Given the description of an element on the screen output the (x, y) to click on. 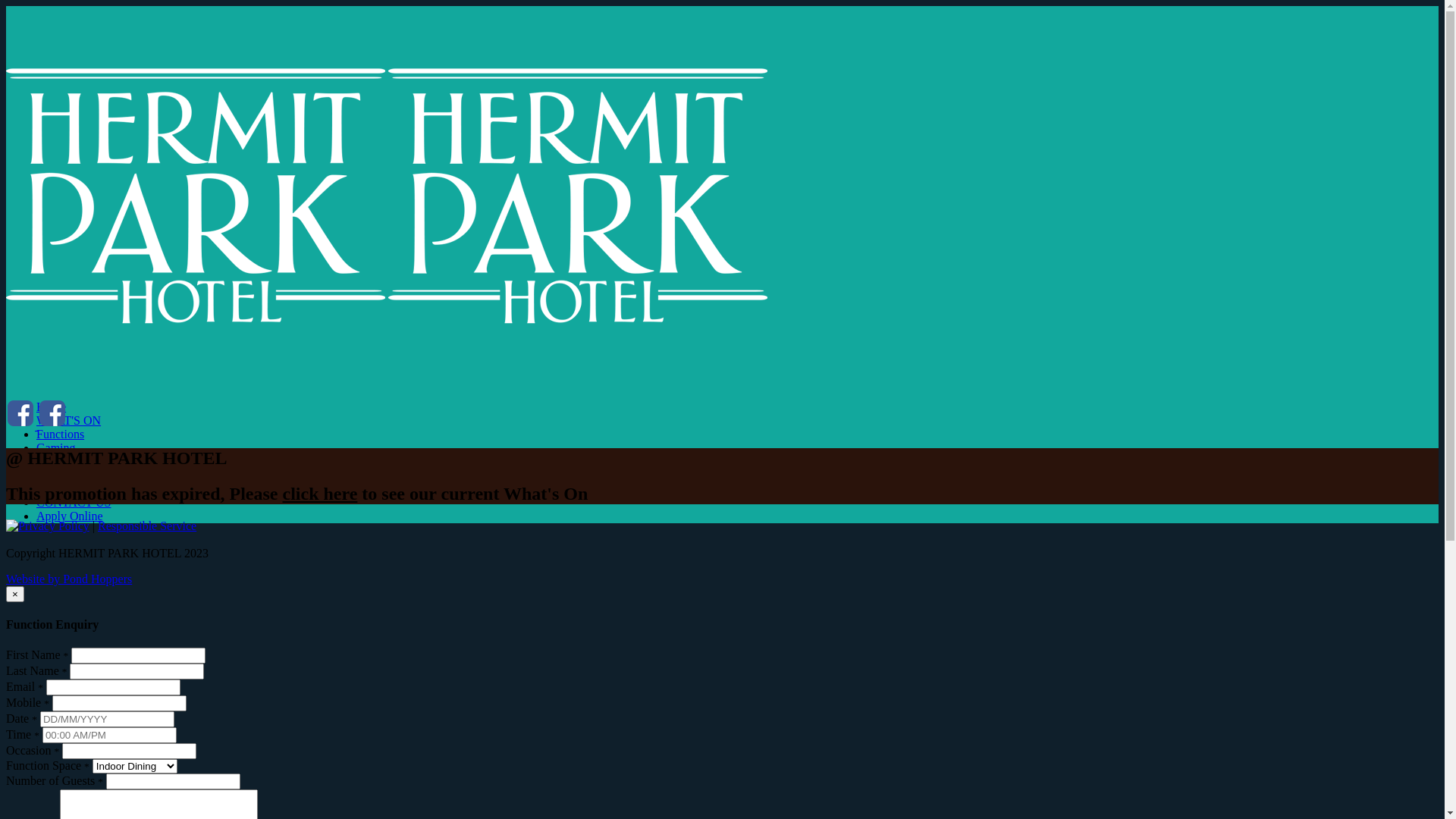
Careers Element type: text (464, 488)
Responsible Service Element type: text (146, 525)
Home Element type: text (464, 407)
Privacy Policy Element type: text (53, 525)
Bottle Shop Element type: text (464, 475)
Website by Pond Hoppers Element type: text (68, 578)
PUBLINC COMMUNITIES Element type: text (464, 461)
click here Element type: text (319, 493)
Apply Online Element type: text (464, 516)
WHAT'S ON Element type: text (464, 420)
Functions Element type: text (464, 434)
CONTACT US Element type: text (464, 502)
Gaming Element type: text (464, 448)
